Given the description of an element on the screen output the (x, y) to click on. 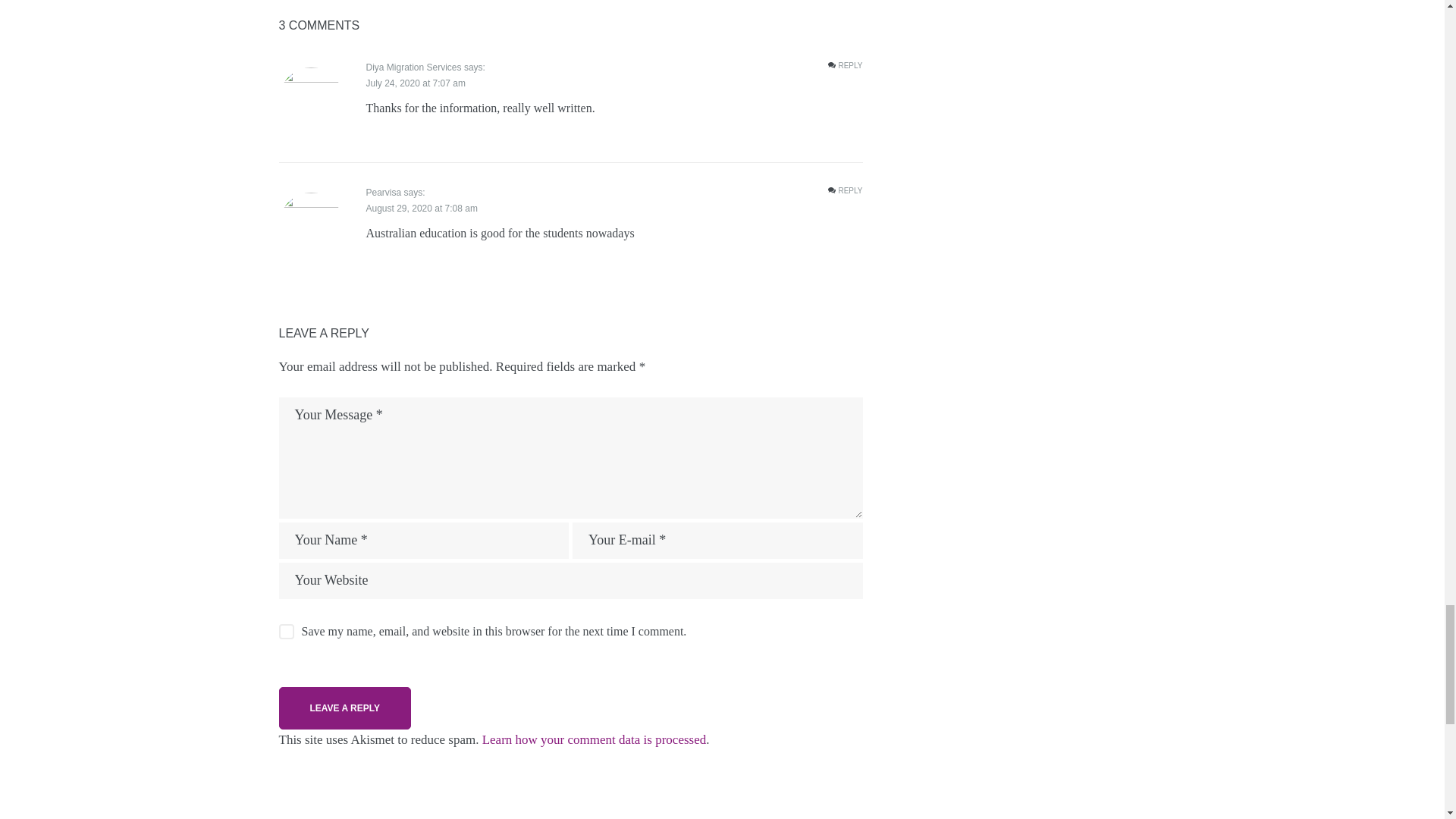
Leave a reply (344, 708)
